Given the description of an element on the screen output the (x, y) to click on. 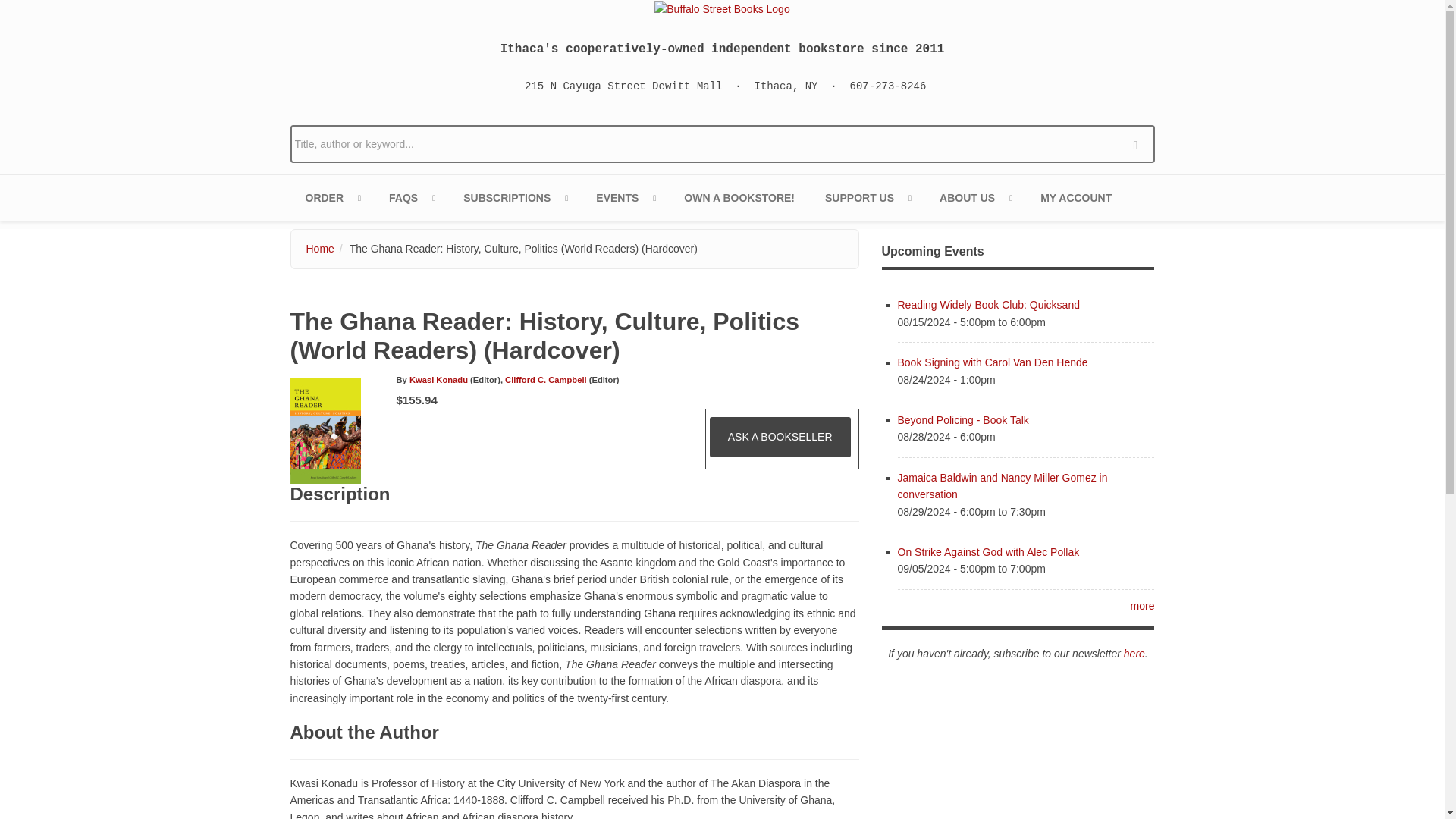
ORDER (331, 198)
SUPPORT US (866, 198)
OWN A BOOKSTORE! (738, 198)
EVENTS (624, 198)
Ask a Bookseller (780, 436)
Title, author or keyword... (721, 143)
FAQS (411, 198)
BSB First (514, 198)
ABOUT US (974, 198)
